Given the description of an element on the screen output the (x, y) to click on. 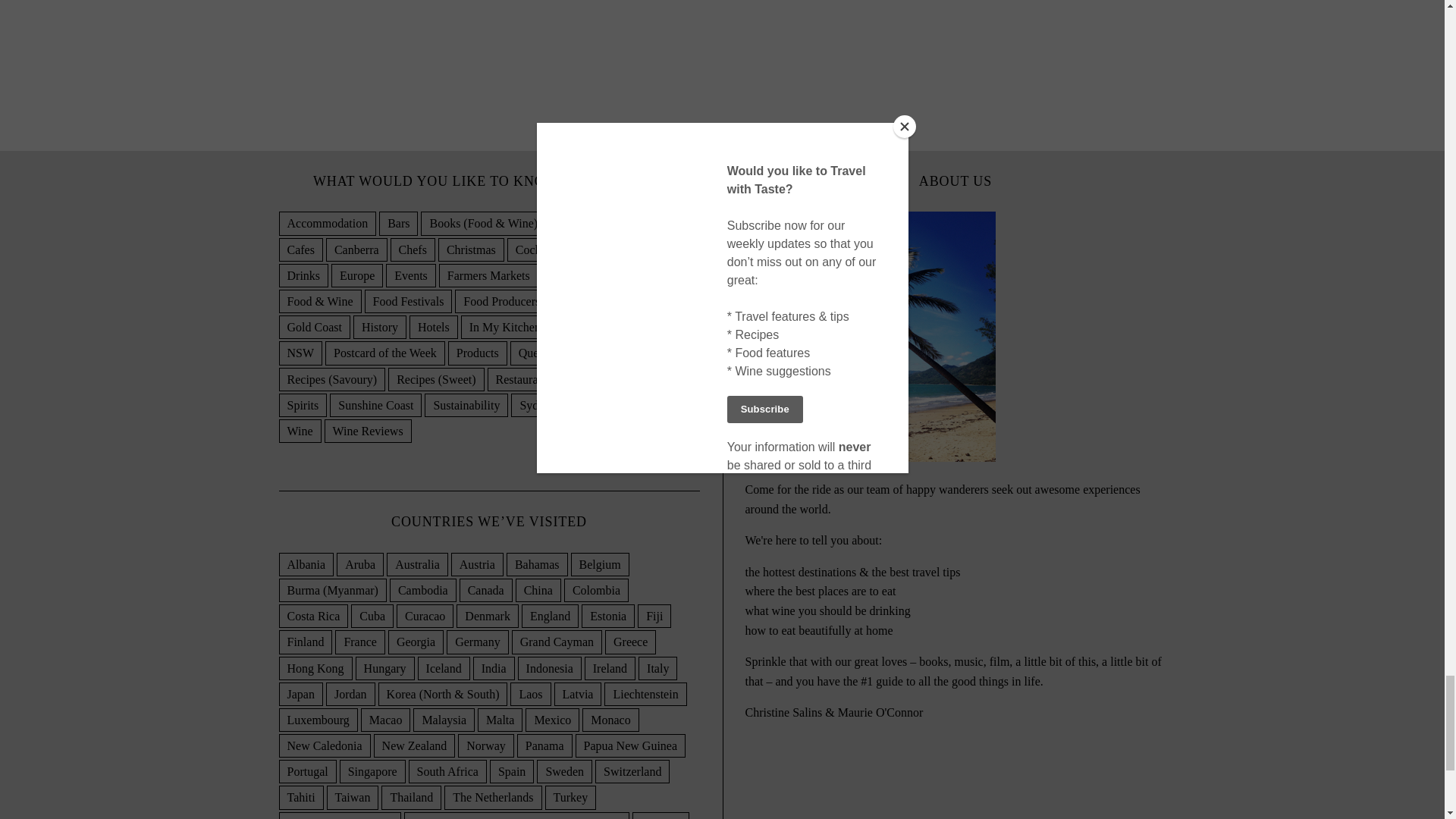
Comment Form (571, 49)
